Given the description of an element on the screen output the (x, y) to click on. 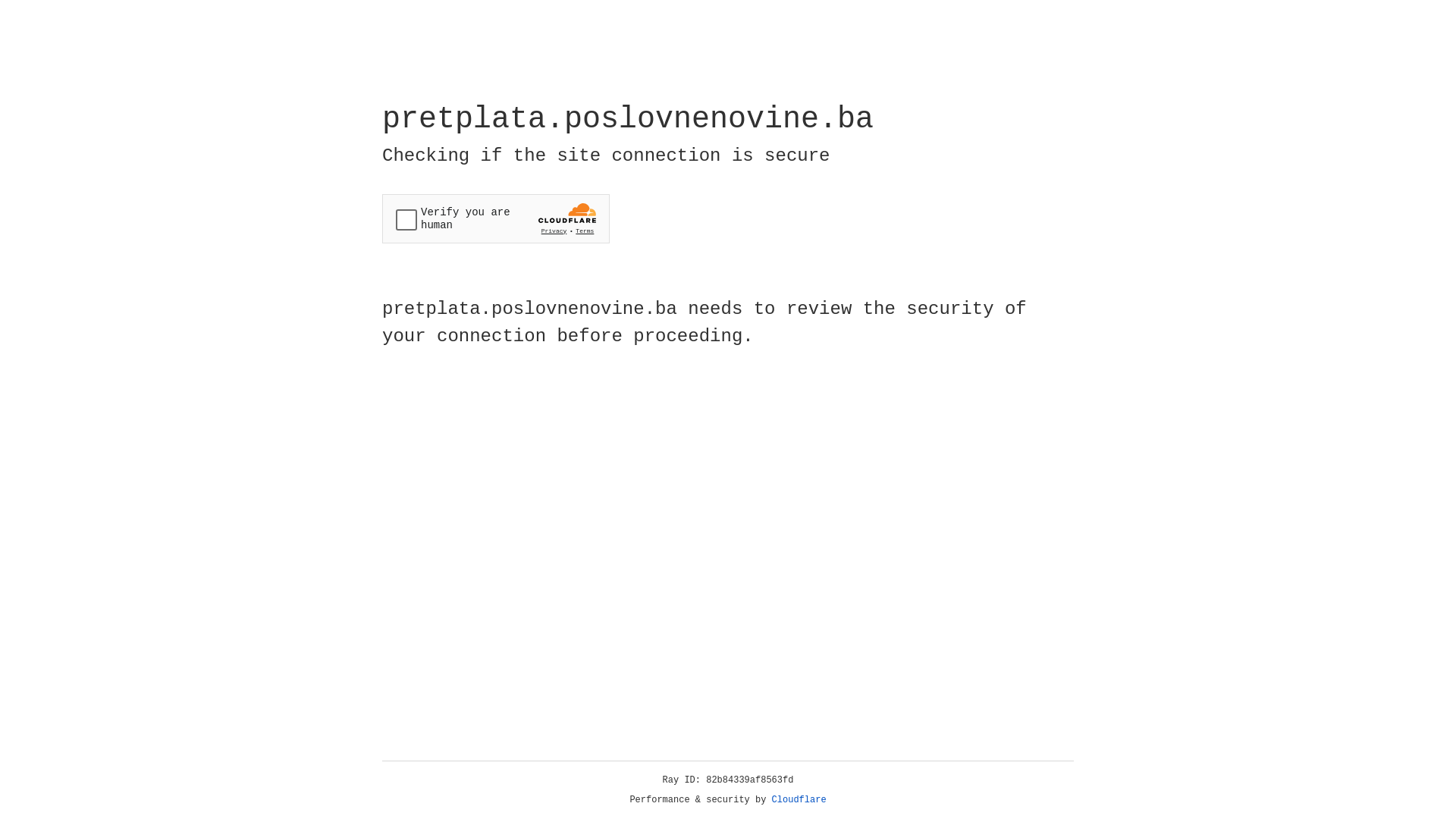
Widget containing a Cloudflare security challenge Element type: hover (495, 218)
Cloudflare Element type: text (798, 799)
